Given the description of an element on the screen output the (x, y) to click on. 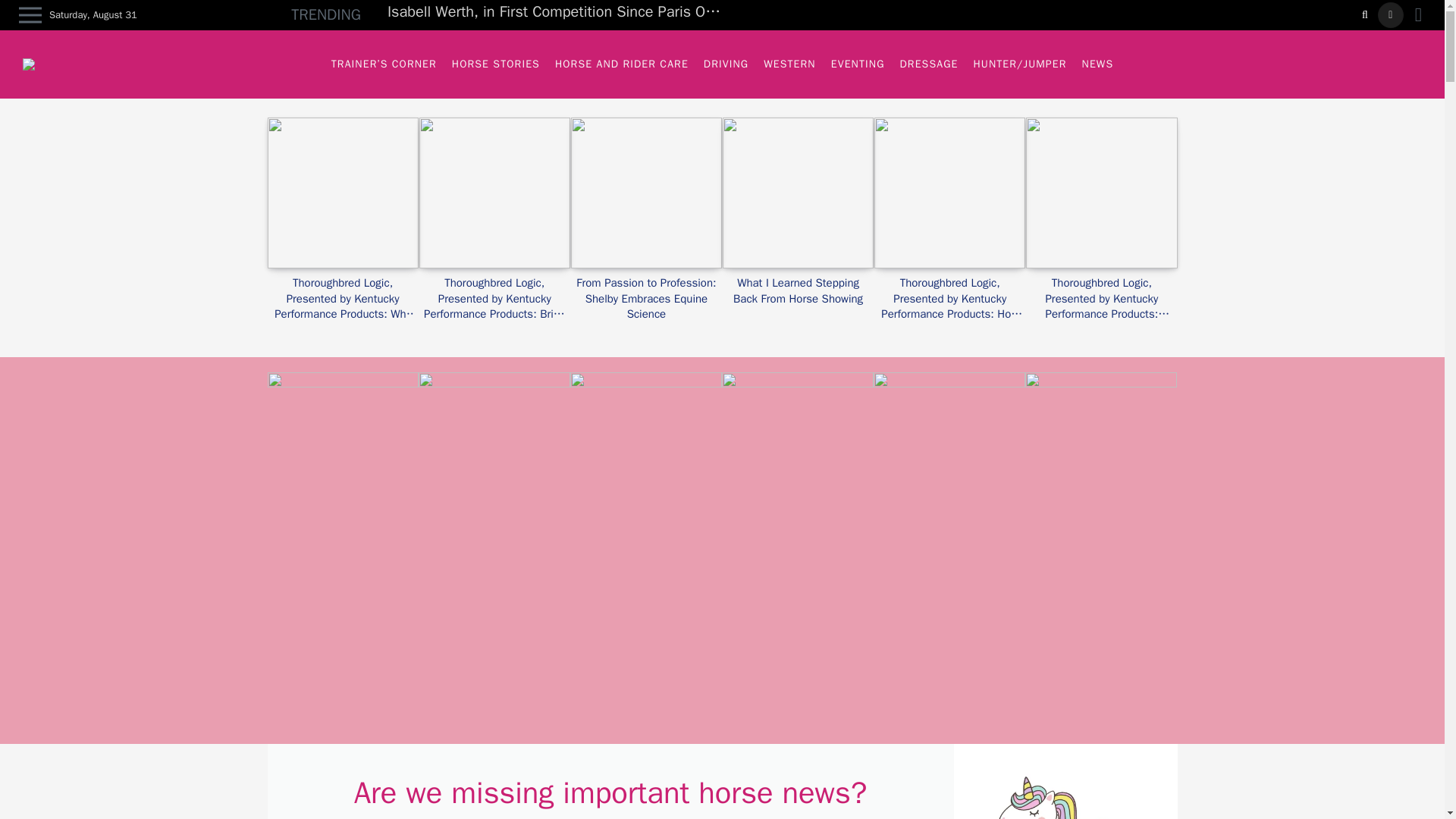
DRESSAGE (929, 64)
HORSE AND RIDER CARE (621, 64)
WESTERN (789, 64)
If Wishes Were Horses (37, 63)
From Passion to Profession: Shelby Embraces Equine Science (646, 298)
EVENTING (858, 64)
HORSE STORIES (495, 64)
Instagram (1390, 14)
